Given the description of an element on the screen output the (x, y) to click on. 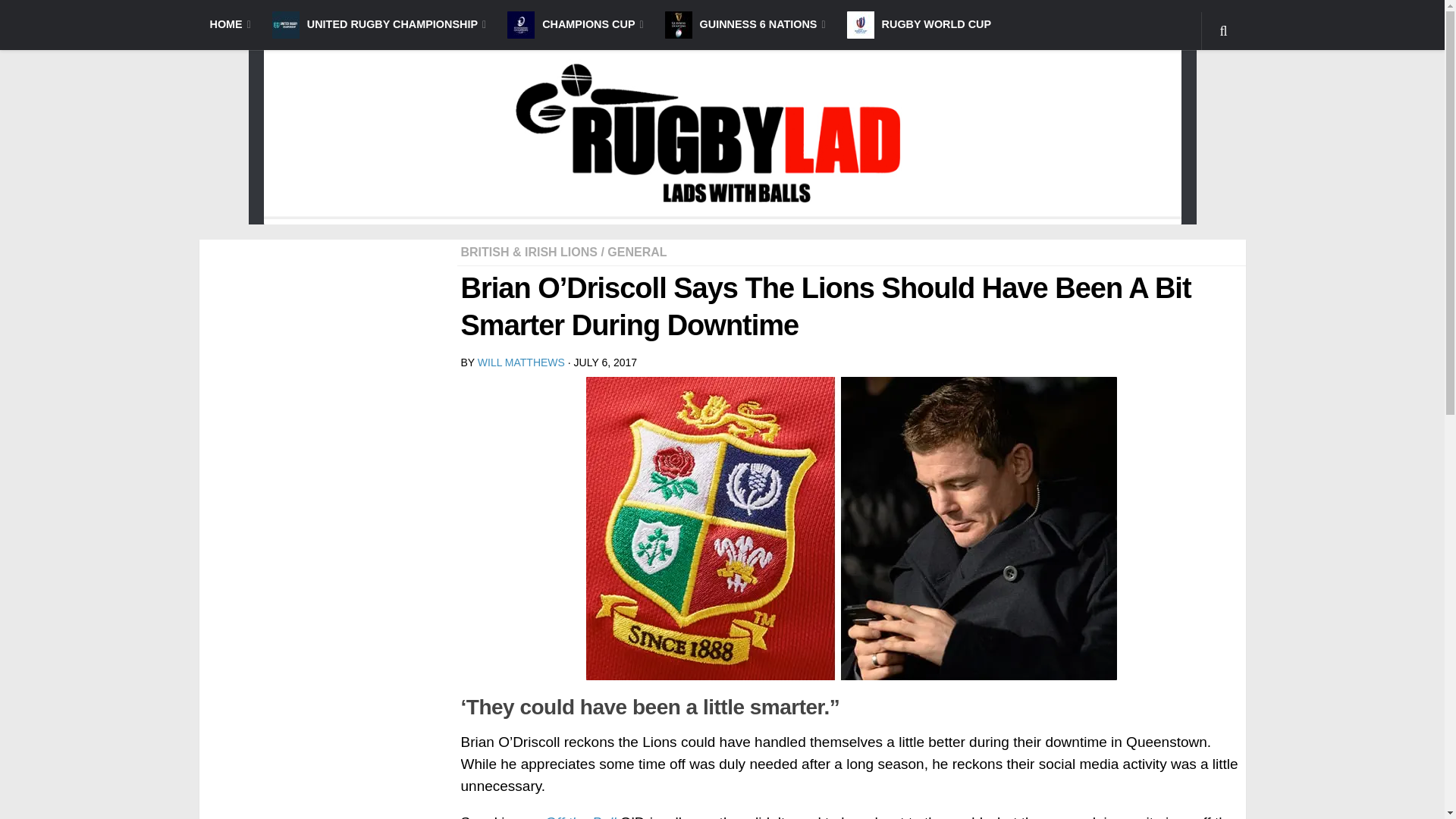
CHAMPIONS CUP (574, 24)
HOME (229, 23)
RUGBY WORLD CUP (918, 24)
GENERAL (636, 251)
Posts by Will Matthews (520, 362)
WILL MATTHEWS (520, 362)
GUINNESS 6 NATIONS (744, 24)
UNITED RUGBY CHAMPIONSHIP (379, 24)
Off the Ball (579, 816)
